Given the description of an element on the screen output the (x, y) to click on. 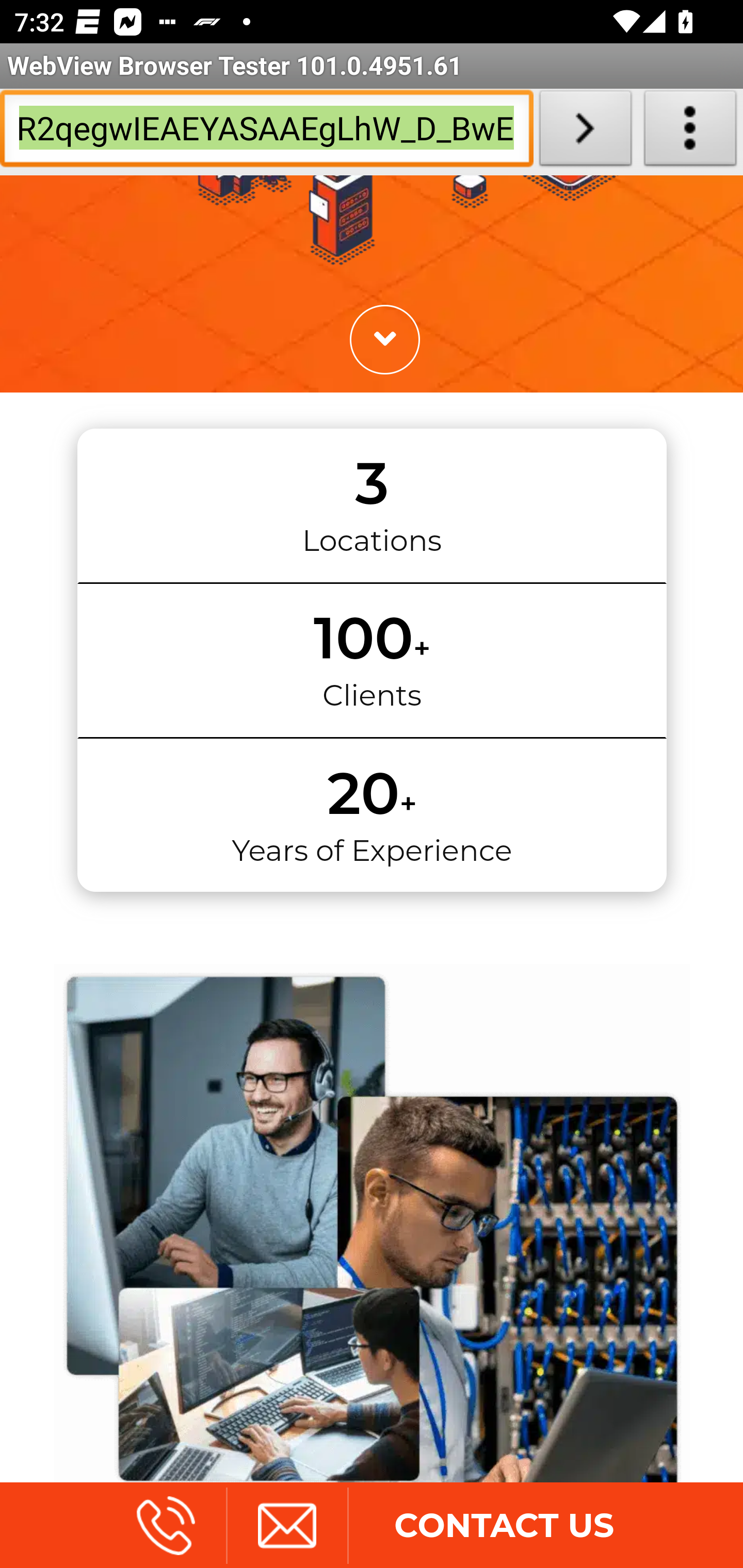
Load URL (585, 132)
About WebView (690, 132)
Link to #section-about-functioneight  (384, 341)
email (286, 1527)
CONTACT US (504, 1527)
